Given the description of an element on the screen output the (x, y) to click on. 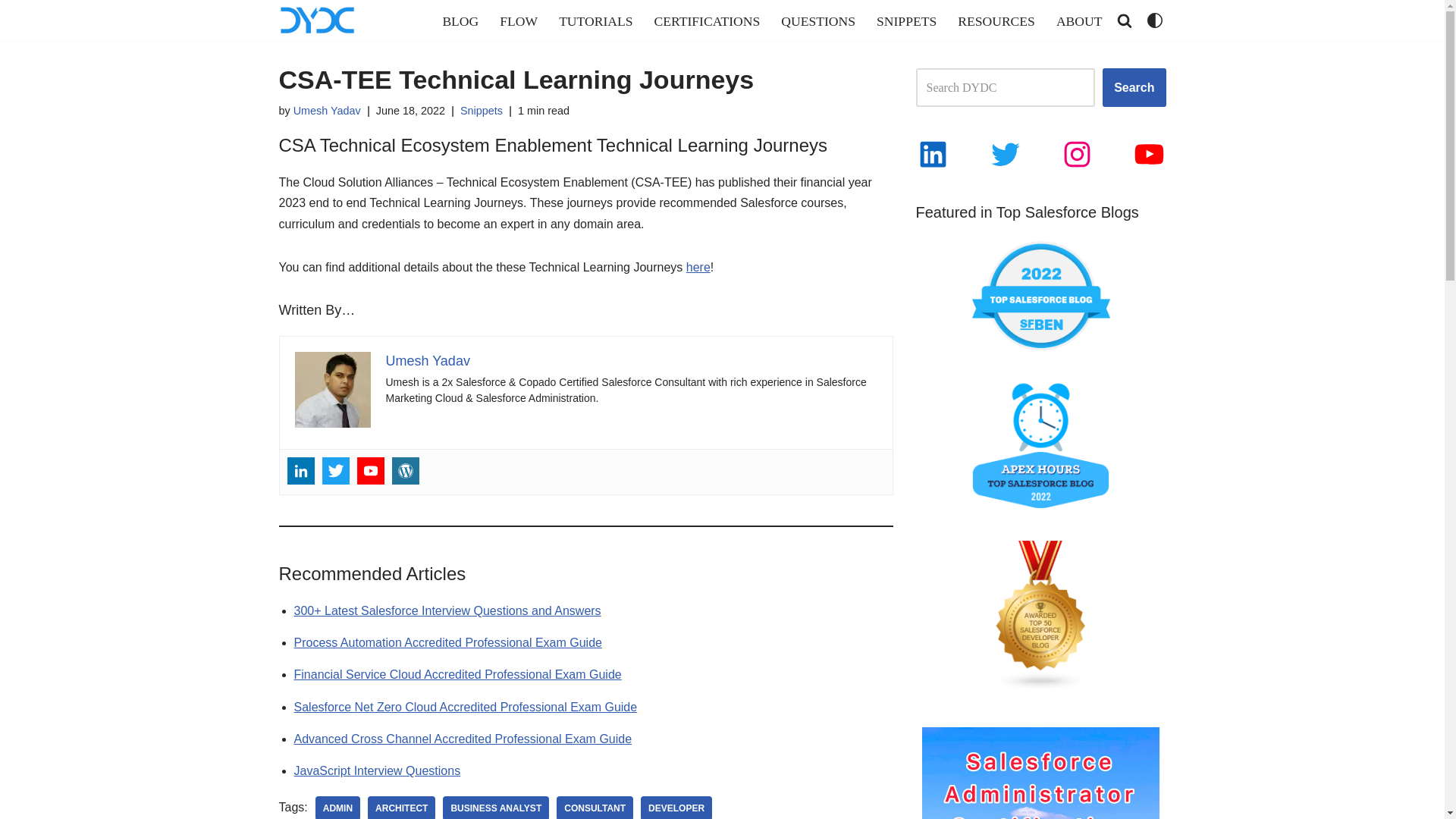
Posts by Umesh Yadav (327, 110)
QUESTIONS (818, 20)
BLOG (460, 20)
RESOURCES (996, 20)
Process Automation Accredited Professional Exam Guide (448, 642)
Architect (401, 807)
TUTORIALS (595, 20)
Skip to content (11, 31)
Consultant (594, 807)
Snippets (481, 110)
SNIPPETS (906, 20)
Linkedin (300, 470)
FLOW (518, 20)
Developer (675, 807)
Umesh Yadav (426, 360)
